Given the description of an element on the screen output the (x, y) to click on. 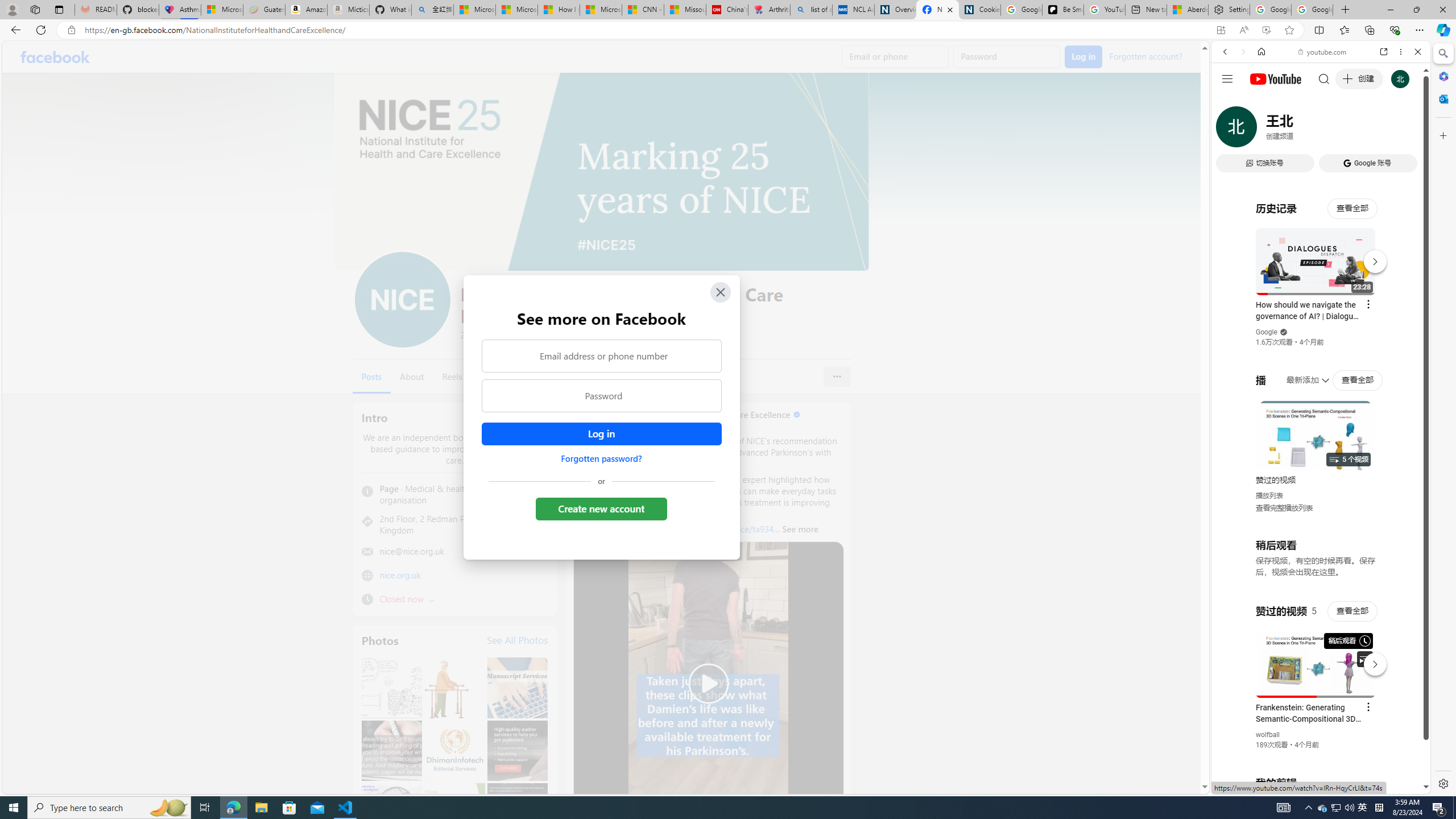
you (1315, 755)
Close Customize pane (1442, 135)
Show More Music (1390, 310)
Email or phone (895, 56)
Global web icon (1232, 655)
Search Filter, WEB (1230, 129)
